Given the description of an element on the screen output the (x, y) to click on. 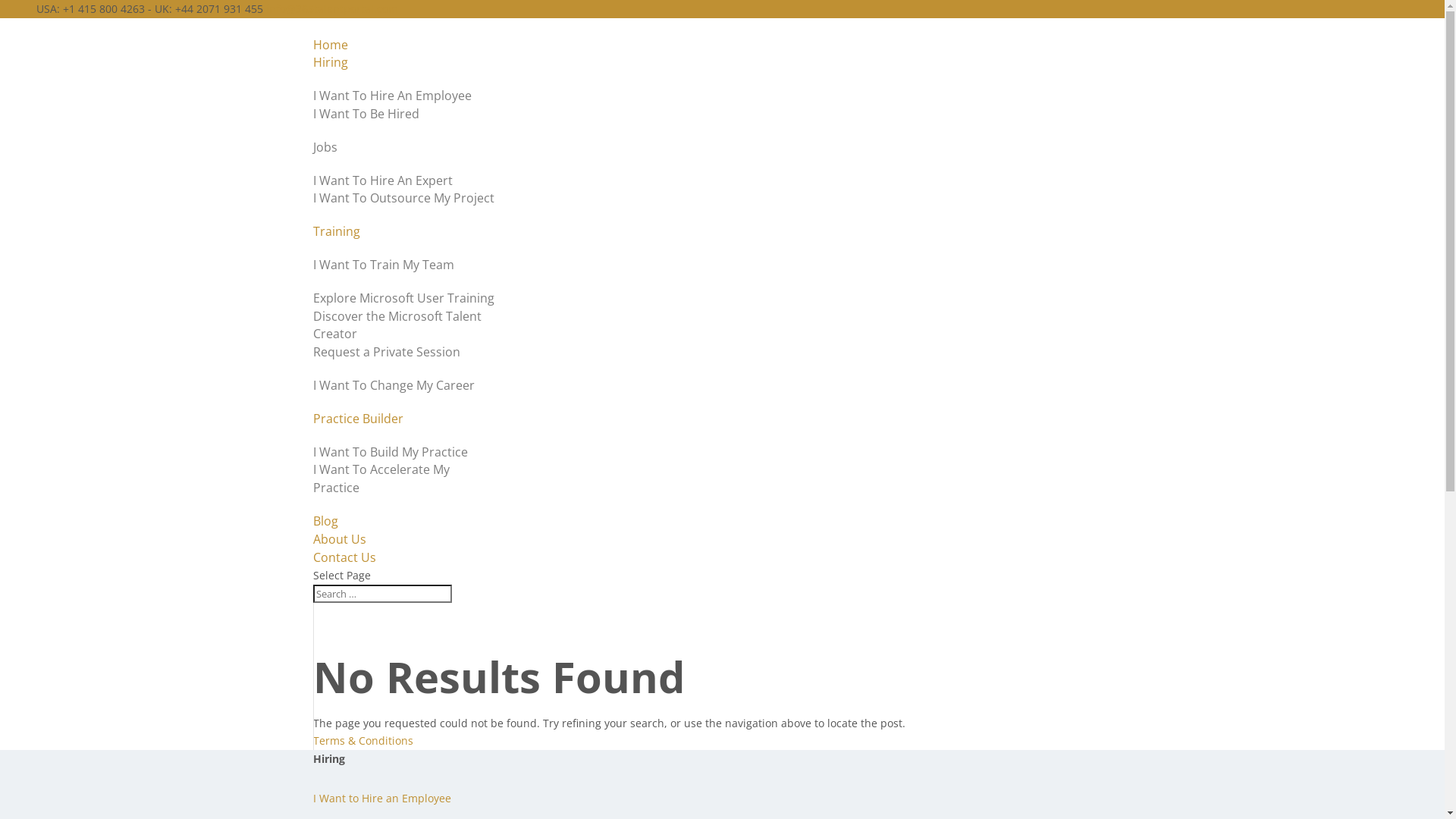
Home Element type: text (329, 44)
I Want To Build My Practice Element type: text (389, 451)
I Want To Hire An Employee Element type: text (391, 95)
I Want To Train My Team Element type: text (382, 264)
info@365talentportal.com Element type: text (332, 8)
I Want To Accelerate My Practice Element type: text (380, 478)
About Us Element type: text (338, 538)
I Want to Hire an Employee Element type: text (381, 797)
Explore Microsoft User Training Element type: text (402, 297)
Hiring Element type: text (329, 61)
Request a Private Session Element type: text (385, 351)
I Want To Outsource My Project Element type: text (402, 197)
Search for: Element type: hover (381, 593)
Training Element type: text (335, 230)
Blog Element type: text (324, 520)
Practice Builder Element type: text (357, 418)
I Want To Change My Career Element type: text (392, 384)
Contact Us Element type: text (343, 557)
Jobs Element type: text (324, 146)
I Want To Hire An Expert Element type: text (381, 180)
Discover the Microsoft Talent Creator Element type: text (396, 324)
Terms & Conditions Element type: text (362, 740)
I Want To Be Hired Element type: text (365, 113)
